Given the description of an element on the screen output the (x, y) to click on. 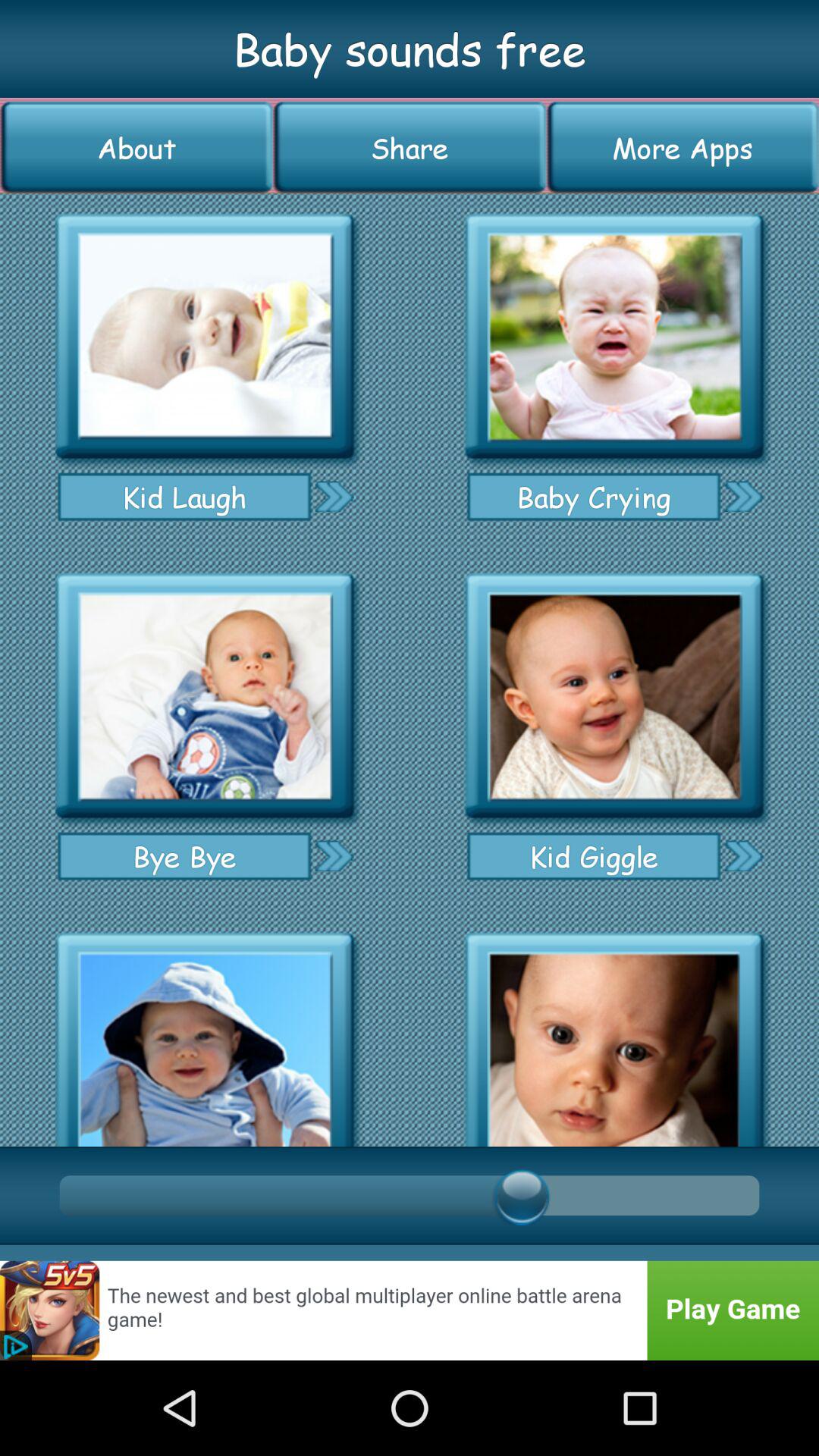
go to the next (743, 855)
